Given the description of an element on the screen output the (x, y) to click on. 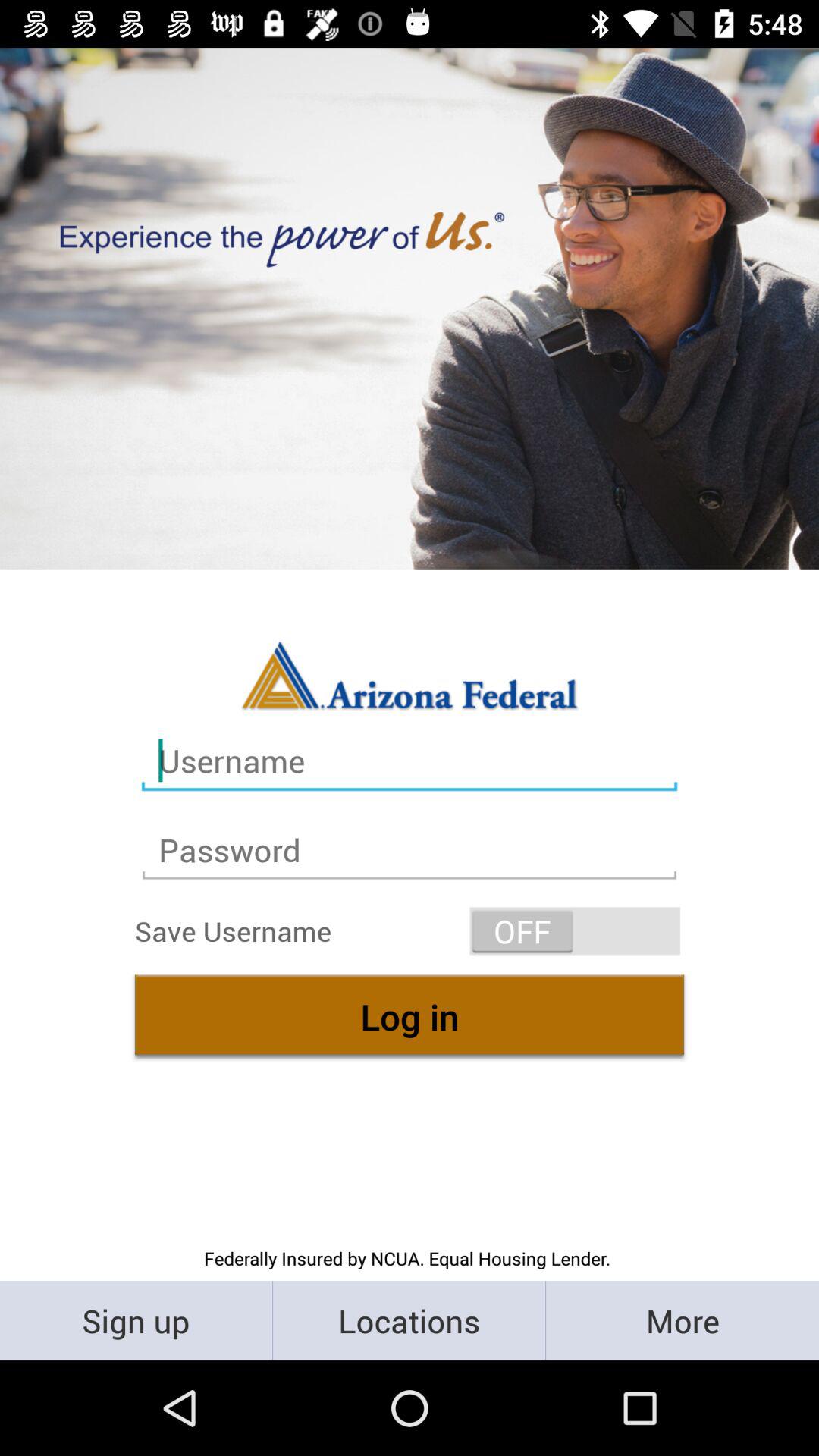
click the option password below username (409, 849)
select the text box contain name username (409, 761)
go to arizona fedral (409, 674)
click on the more text option (682, 1320)
